Given the description of an element on the screen output the (x, y) to click on. 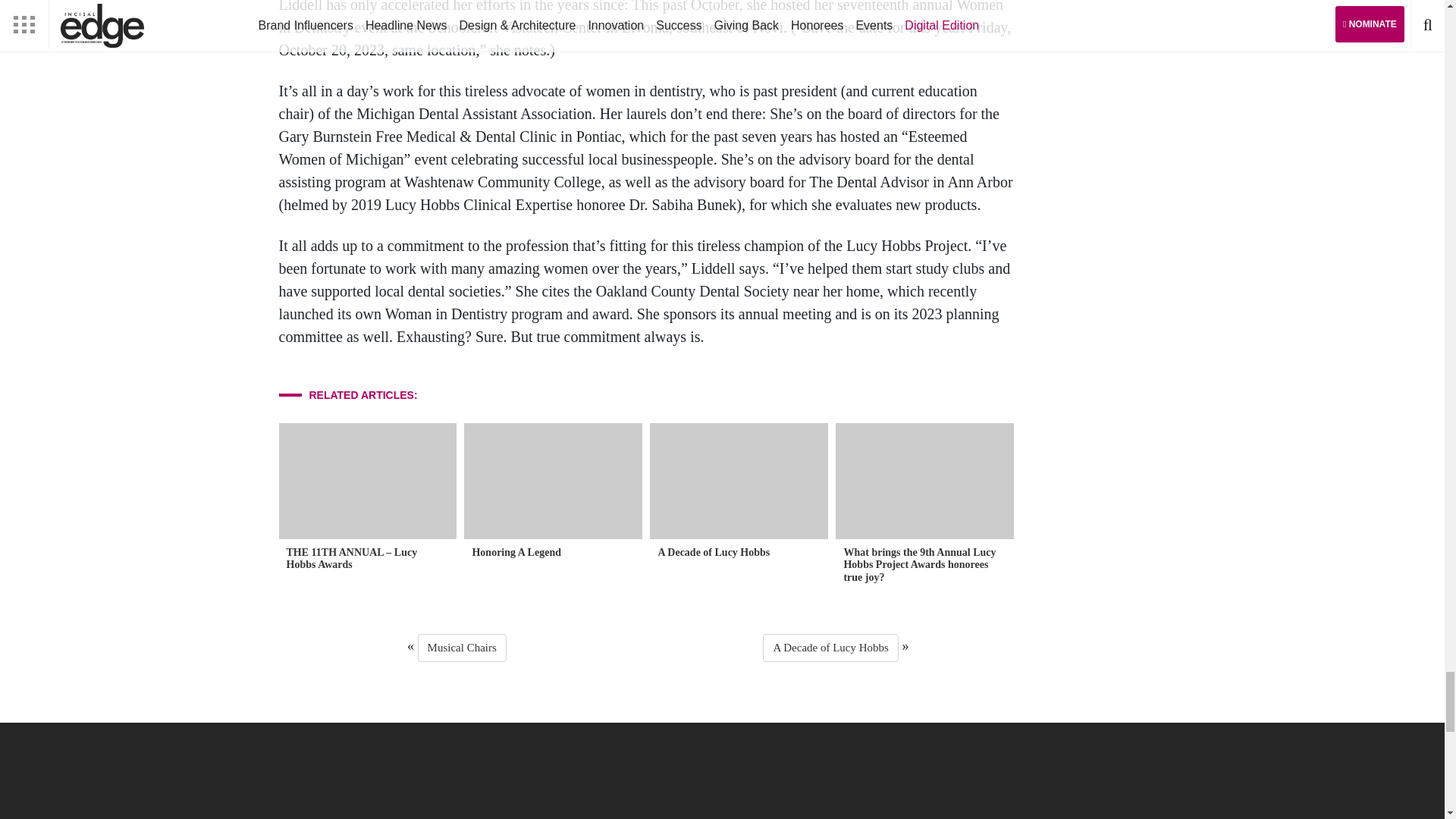
Honoring A Legend (553, 491)
A Decade of Lucy Hobbs (738, 491)
